Given the description of an element on the screen output the (x, y) to click on. 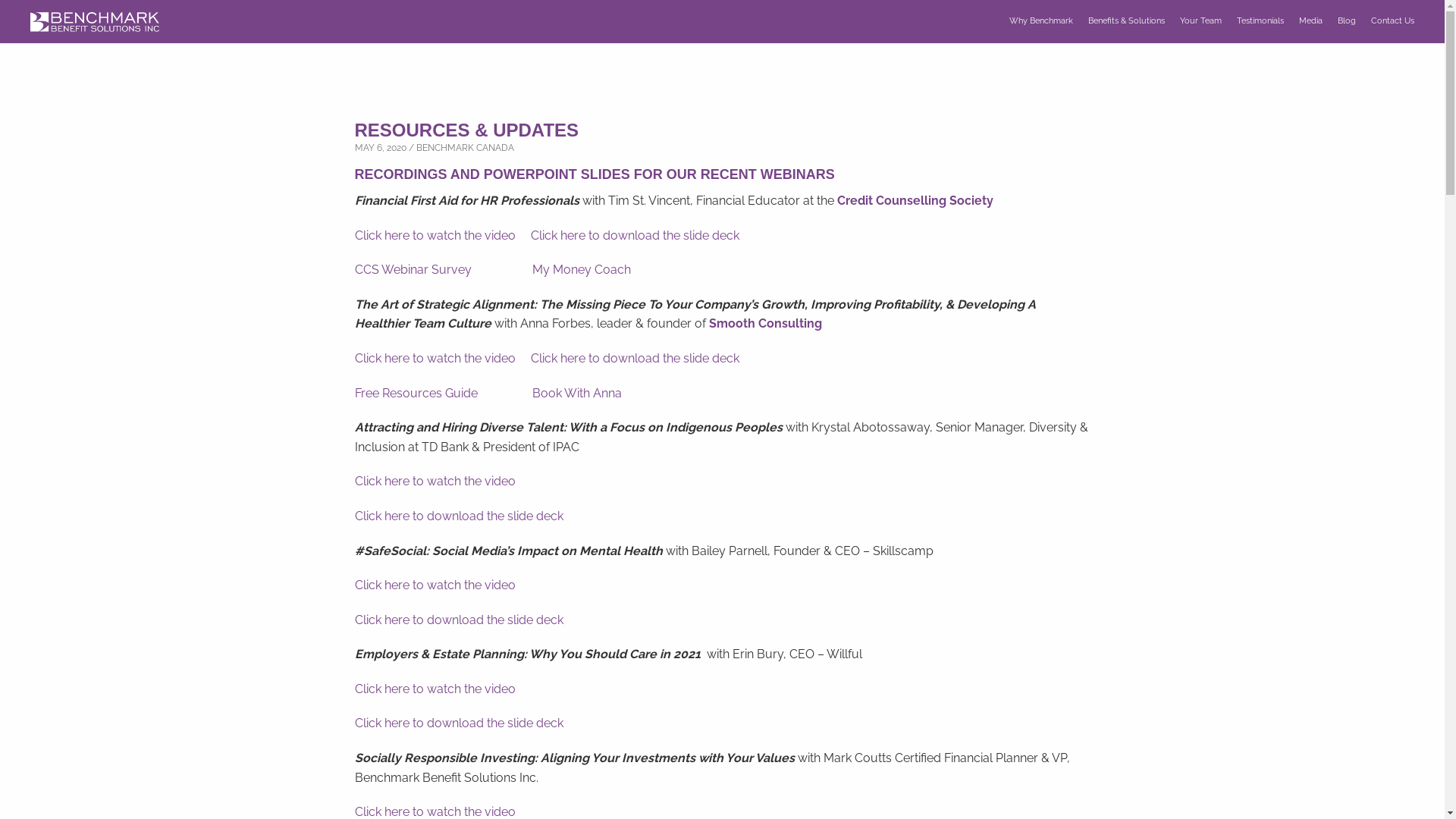
Smooth Consulting Element type: text (764, 323)
Click here to download the slide deck Element type: text (458, 515)
Click here to download the slide deck Element type: text (458, 619)
CCS Webinar Survey Element type: text (412, 269)
Blog Element type: text (1346, 20)
Click here to watch the video Element type: text (434, 235)
Why Benchmark Element type: text (1041, 20)
My Money Coach Element type: text (581, 269)
Click here to download the slide deck Element type: text (458, 722)
Click here to watch the video Element type: text (434, 358)
Click here to watch the video Element type: text (434, 480)
Your Team Element type: text (1200, 20)
Benefits & Solutions Element type: text (1126, 20)
Free Resources Guide Element type: text (415, 392)
Credit Counselling Society Element type: text (915, 200)
Contact Us Element type: text (1392, 20)
Testimonials Element type: text (1259, 20)
Click here to download the slide deck Element type: text (634, 358)
Book With Anna Element type: text (576, 392)
Click here to watch the video Element type: text (434, 688)
Media Element type: text (1310, 20)
Click here to download the slide deck Element type: text (634, 235)
Click here to watch the video Element type: text (434, 584)
